Given the description of an element on the screen output the (x, y) to click on. 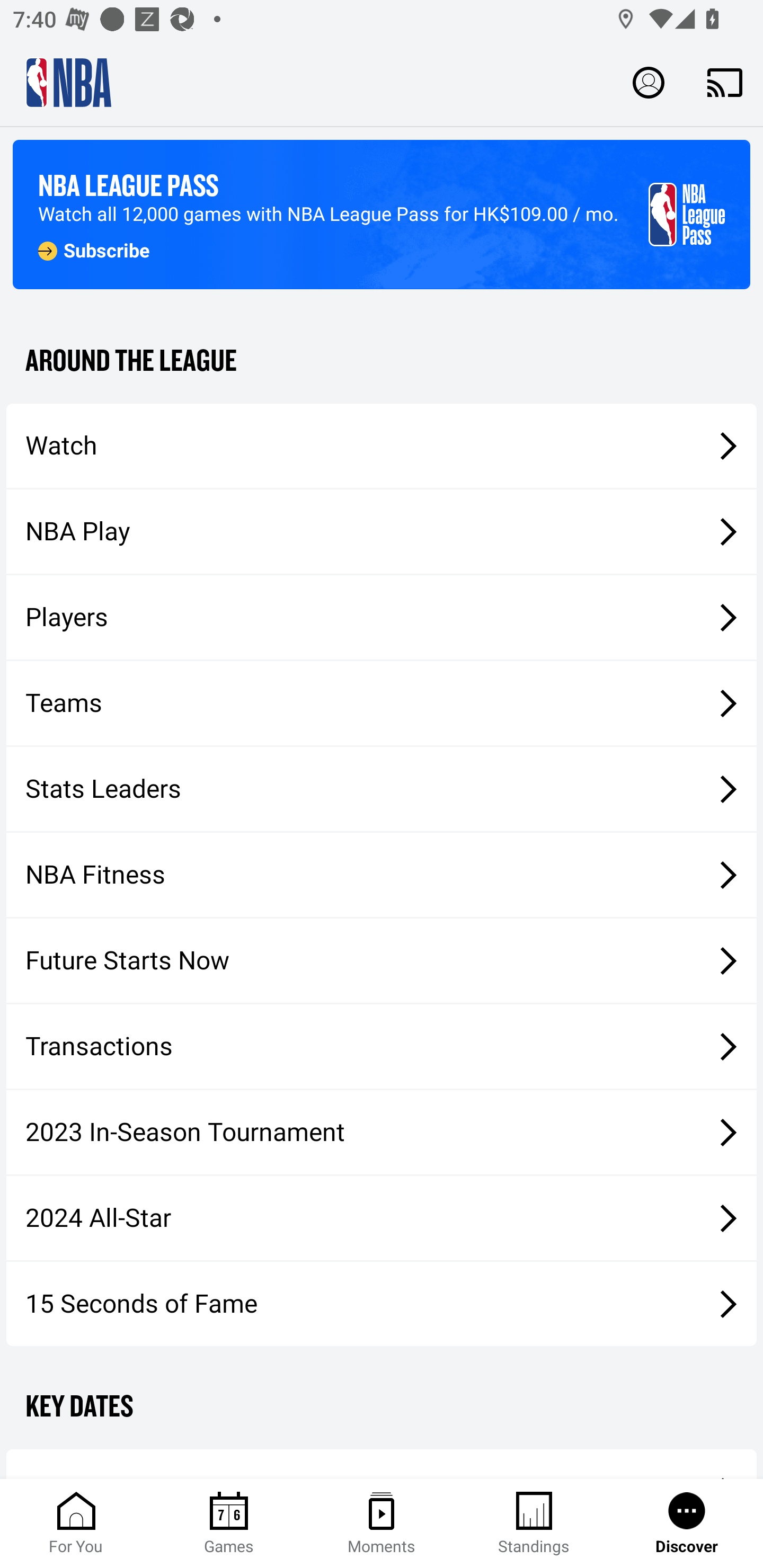
Cast. Disconnected (724, 82)
Profile (648, 81)
Watch (381, 444)
NBA Play (381, 531)
Players (381, 617)
Teams (381, 702)
Stats Leaders (381, 788)
NBA Fitness (381, 874)
Future Starts Now (381, 960)
Transactions (381, 1046)
2023 In-Season Tournament (381, 1131)
2024 All-Star (381, 1218)
15 Seconds of Fame (381, 1303)
For You (76, 1523)
Games (228, 1523)
Moments (381, 1523)
Standings (533, 1523)
